Given the description of an element on the screen output the (x, y) to click on. 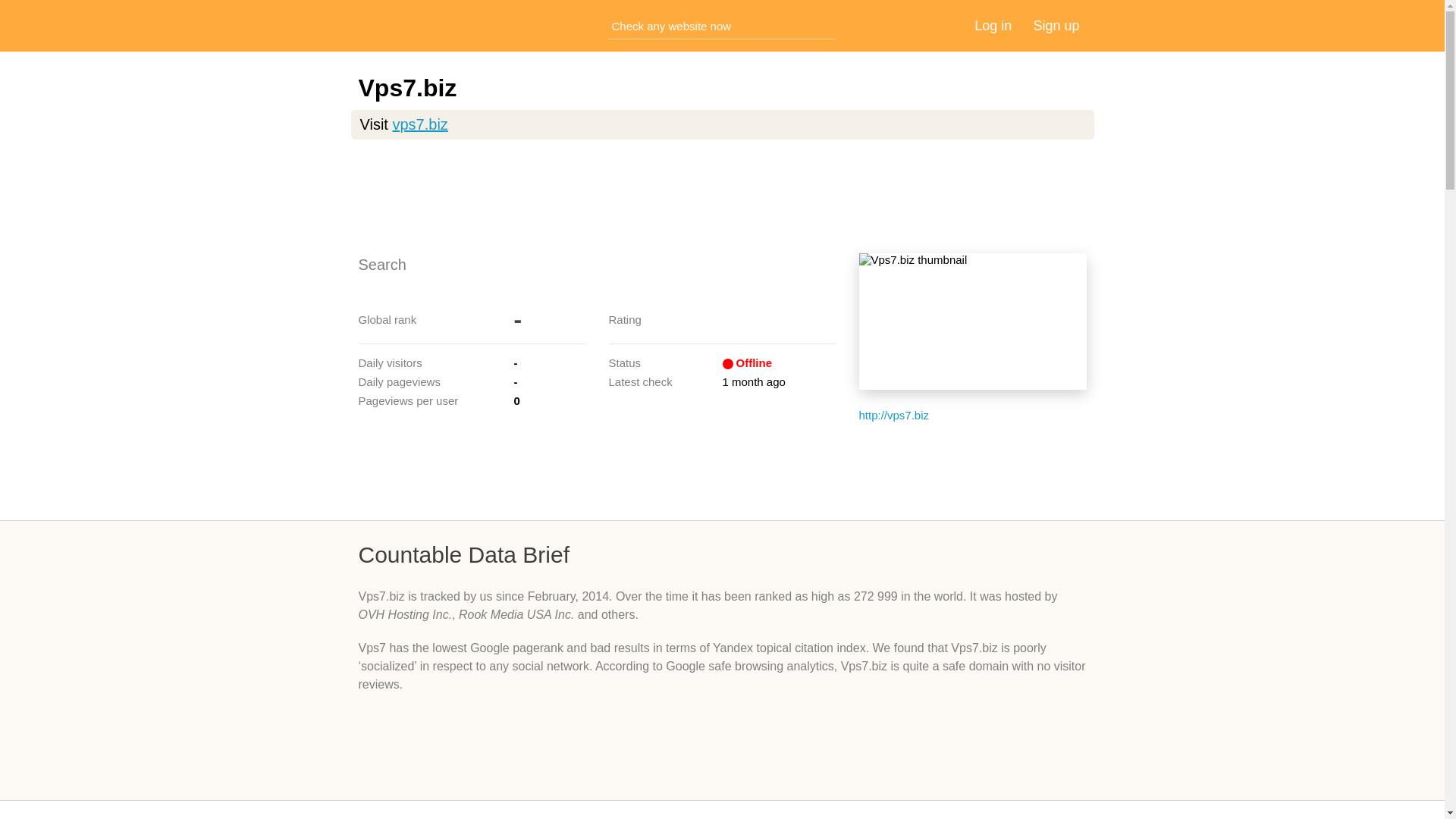
Vps7.biz thumbnail (972, 321)
Sign up (1056, 25)
vps7.biz (418, 124)
Log in (992, 25)
